Given the description of an element on the screen output the (x, y) to click on. 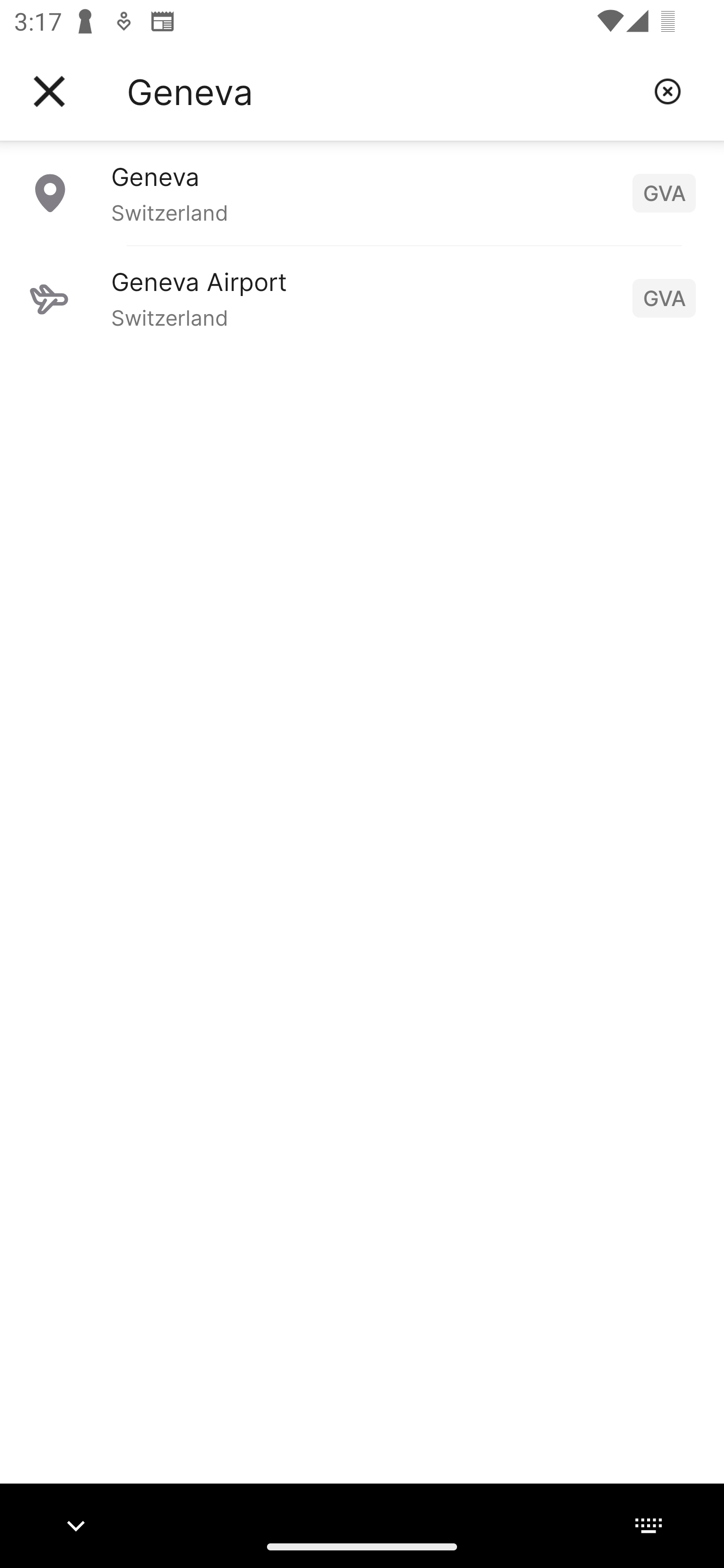
Geneva (382, 91)
Geneva Switzerland GVA (362, 192)
Geneva Airport Switzerland GVA (362, 297)
